Given the description of an element on the screen output the (x, y) to click on. 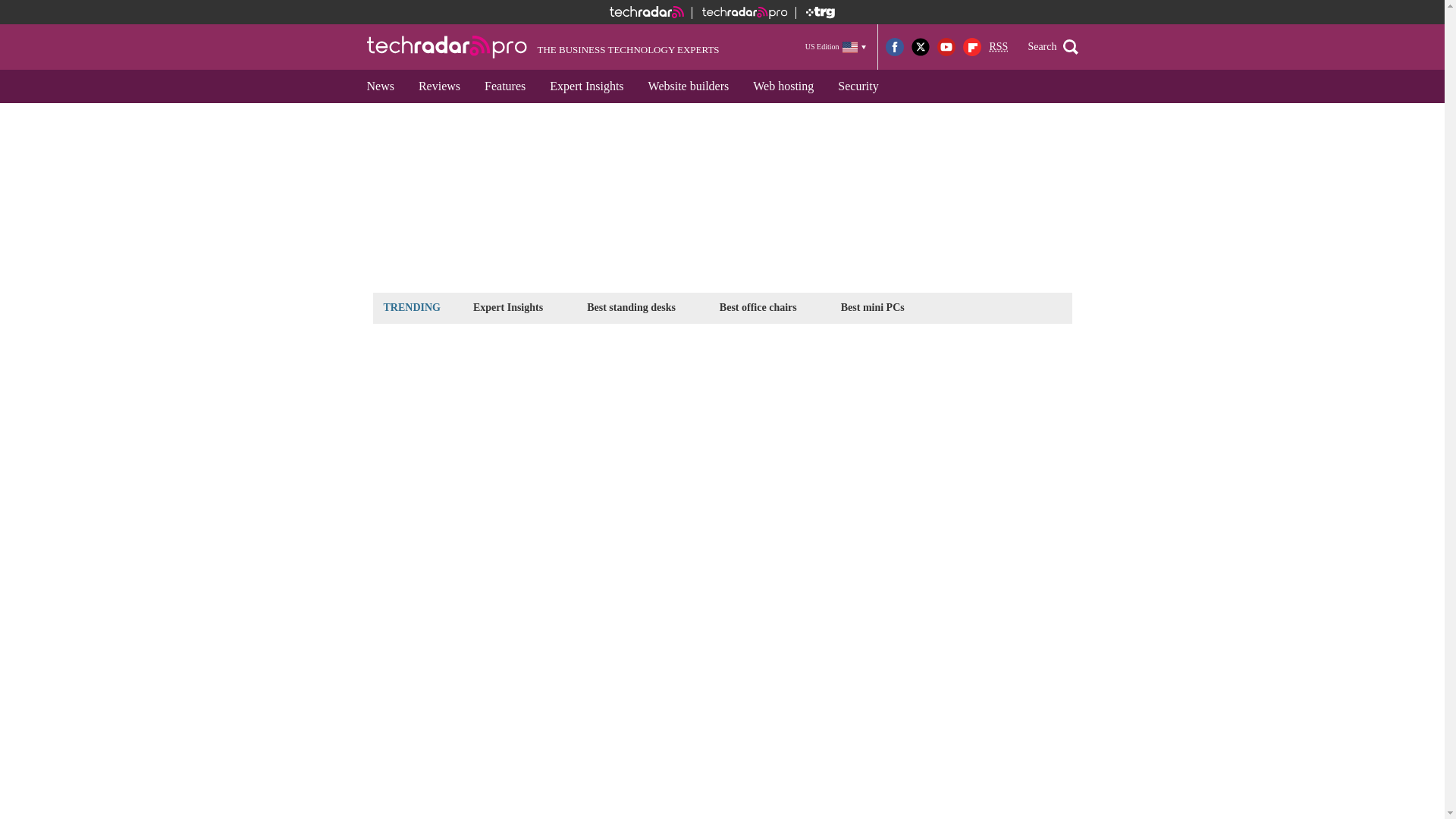
US Edition (836, 46)
Web hosting (783, 86)
Best office chairs (758, 307)
Features (504, 86)
Website builders (688, 86)
THE BUSINESS TECHNOLOGY EXPERTS (542, 46)
Best standing desks (630, 307)
Really Simple Syndication (997, 46)
RSS (997, 46)
News (380, 86)
